Given the description of an element on the screen output the (x, y) to click on. 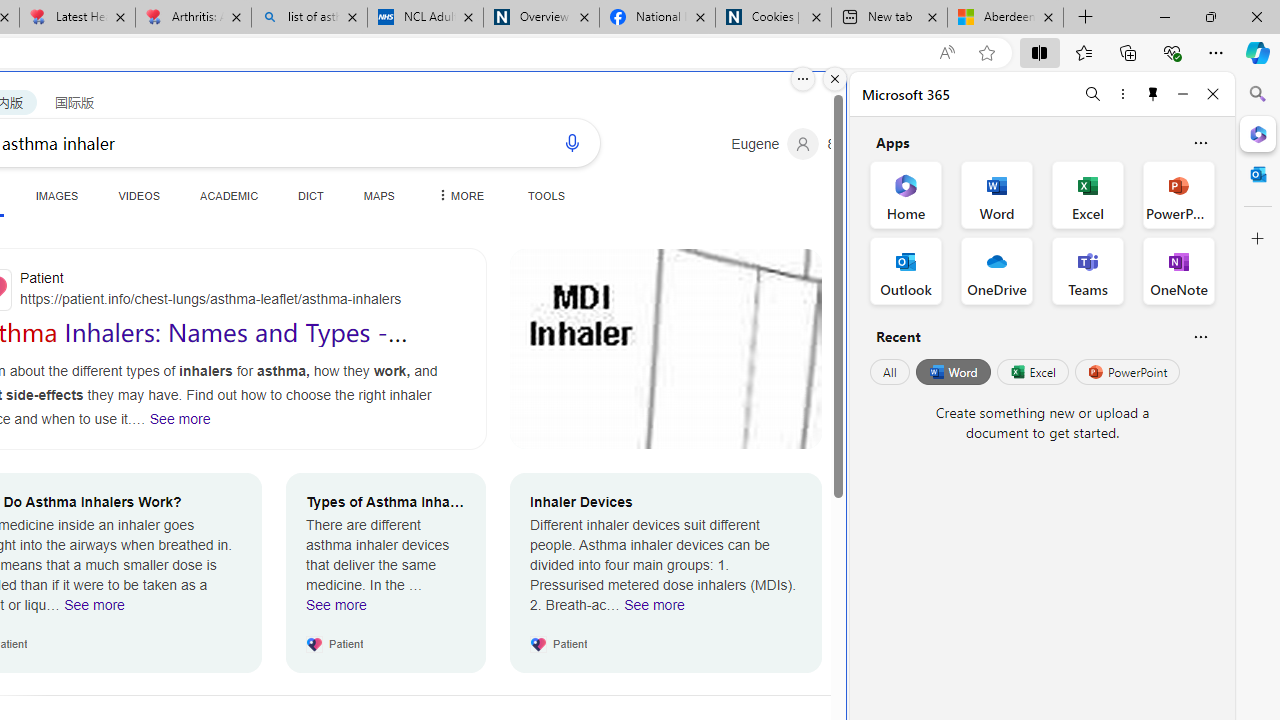
Home Office App (906, 194)
Aberdeen, Hong Kong SAR hourly forecast | Microsoft Weather (1005, 17)
